Given the description of an element on the screen output the (x, y) to click on. 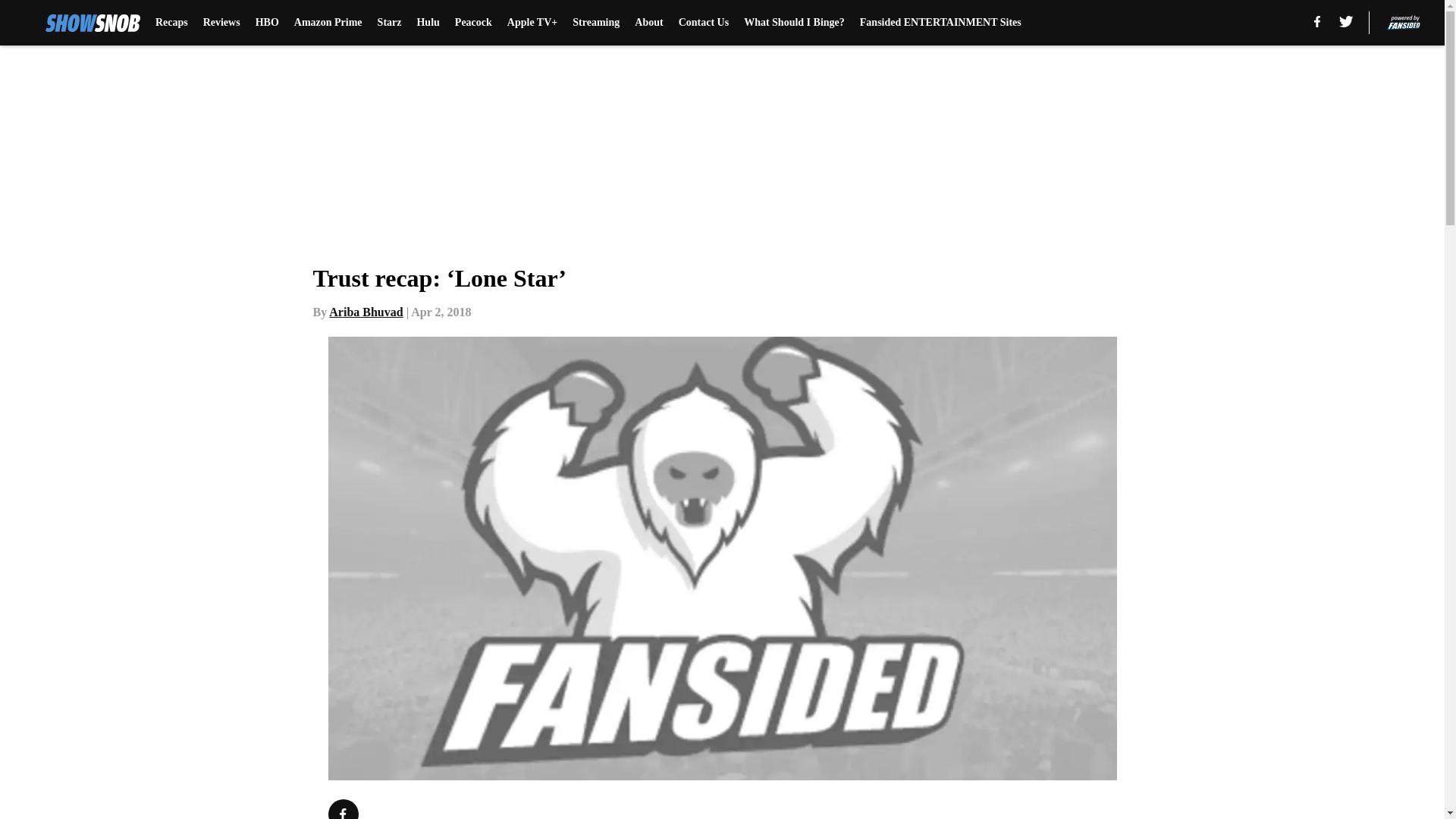
Reviews (221, 22)
Starz (389, 22)
Ariba Bhuvad (366, 311)
Contact Us (703, 22)
Hulu (427, 22)
HBO (267, 22)
Amazon Prime (328, 22)
About (648, 22)
Fansided ENTERTAINMENT Sites (941, 22)
Peacock (473, 22)
